Given the description of an element on the screen output the (x, y) to click on. 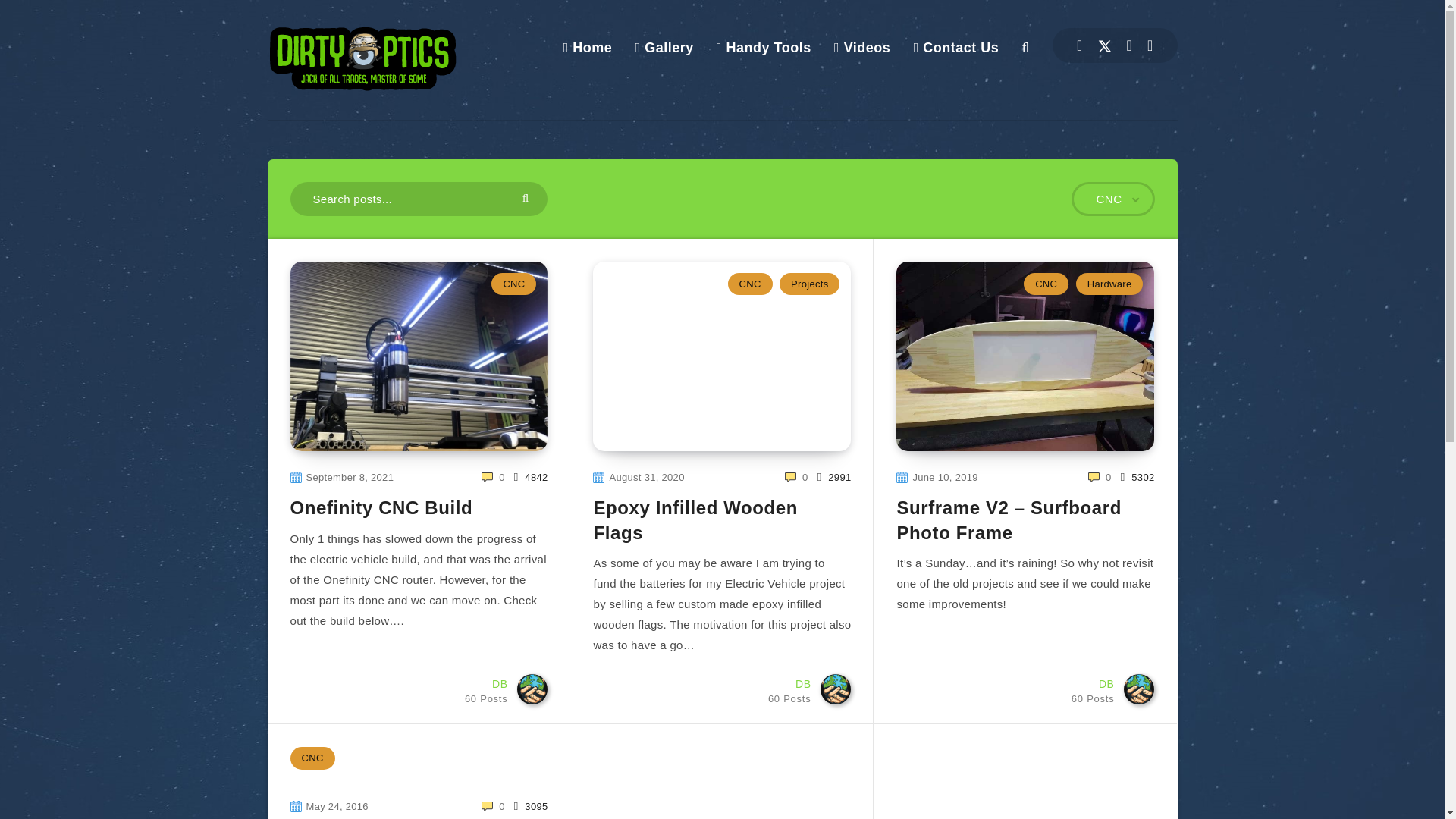
CNC (1045, 283)
0 (796, 477)
Home (587, 47)
DB (792, 687)
5302 (1137, 477)
4842 (530, 477)
Handy Tools (763, 47)
Contact Us (956, 47)
Projects (792, 687)
Gallery (809, 283)
CNC (664, 47)
2991 (488, 687)
Videos (311, 757)
